Given the description of an element on the screen output the (x, y) to click on. 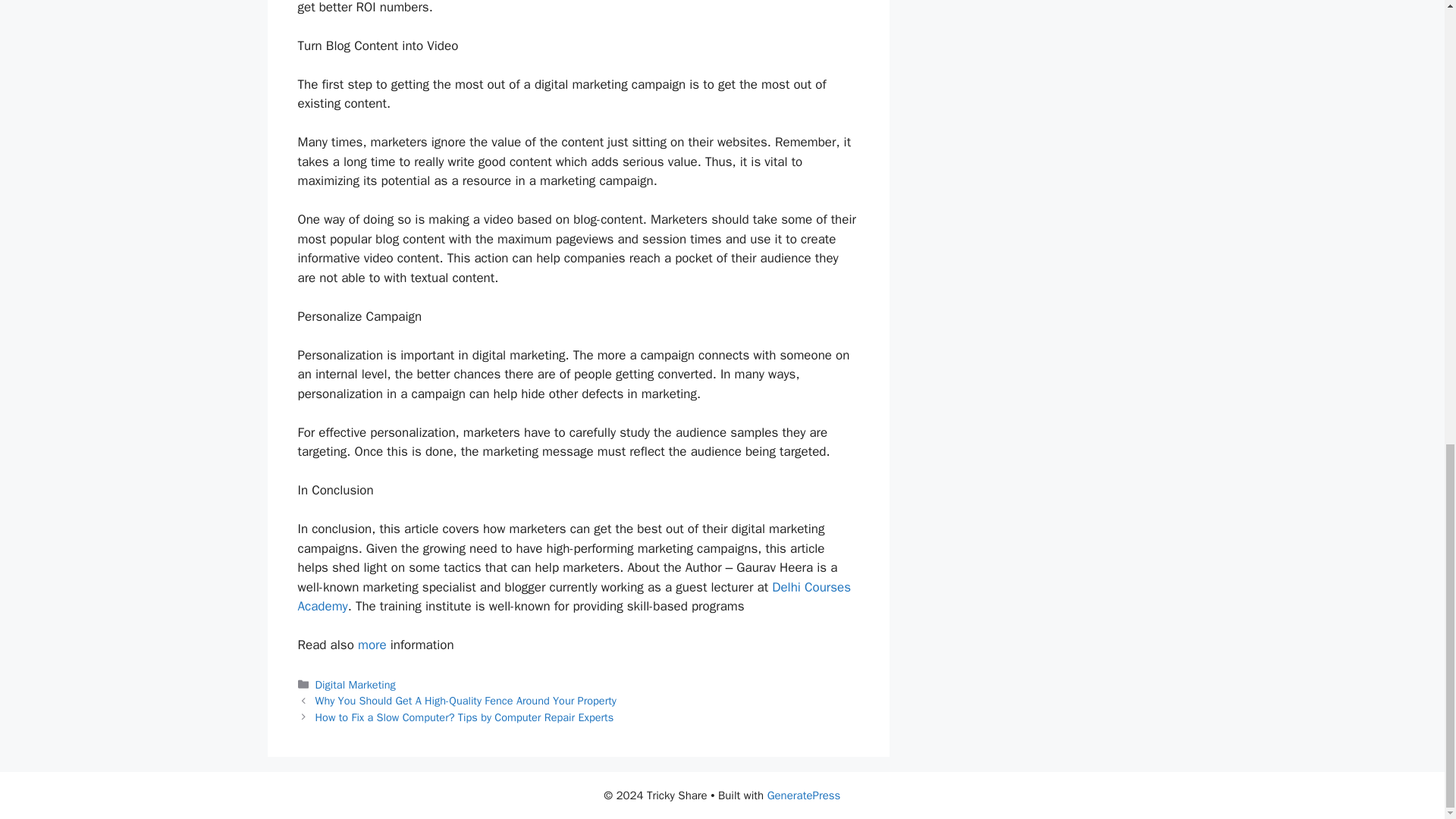
Why You Should Get A High-Quality Fence Around Your Property (465, 700)
GeneratePress (804, 795)
Digital Marketing (355, 684)
more (372, 644)
How to Fix a Slow Computer? Tips by Computer Repair Experts (464, 716)
Delhi Courses Academy (573, 597)
